Given the description of an element on the screen output the (x, y) to click on. 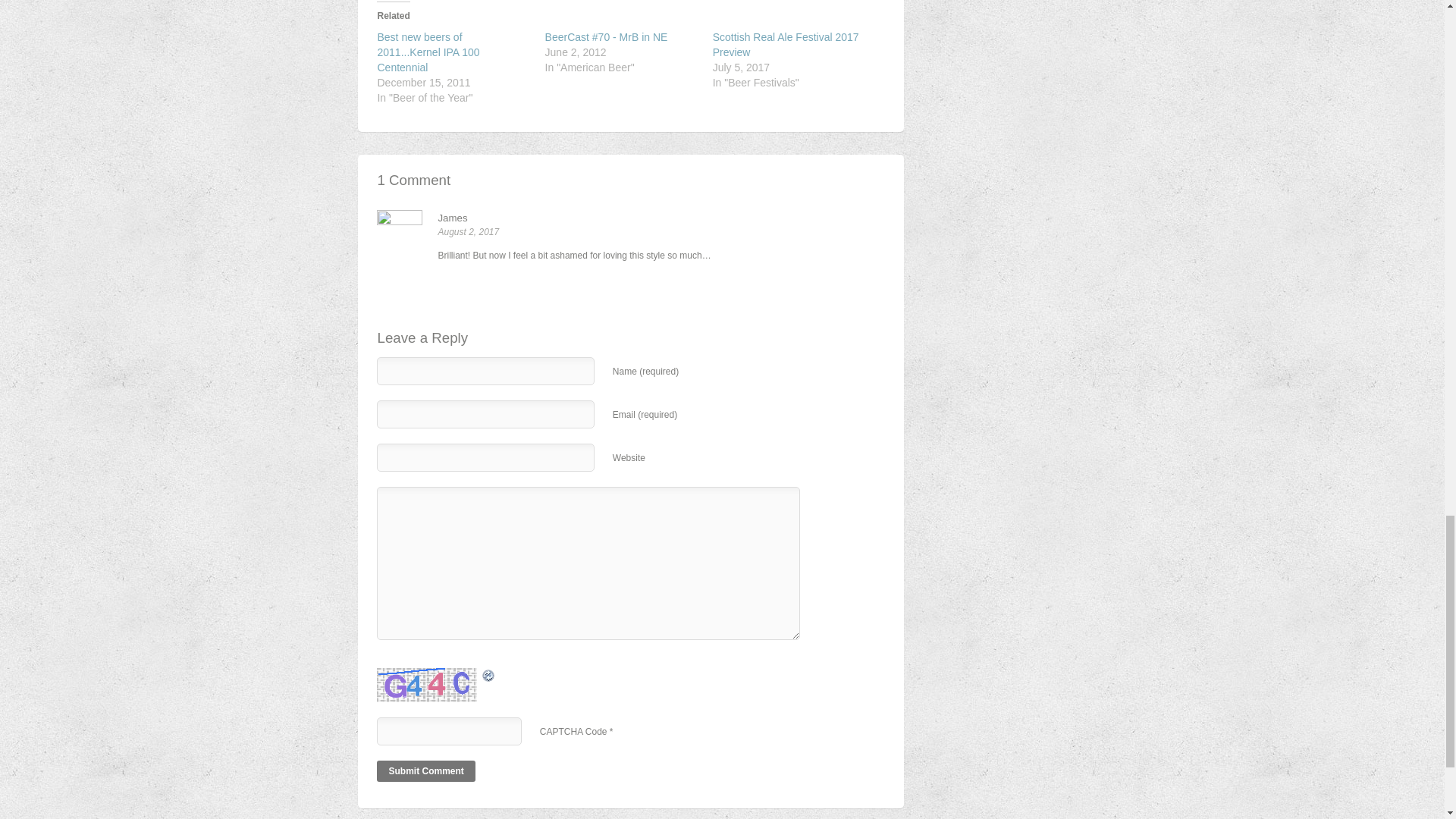
CAPTCHA (428, 684)
Refresh (443, 675)
Submit Comment (425, 771)
Scottish Real Ale Festival 2017 Preview (786, 44)
Submit Comment (425, 771)
Best new beers of 2011...Kernel IPA 100 Centennial (428, 52)
